Given the description of an element on the screen output the (x, y) to click on. 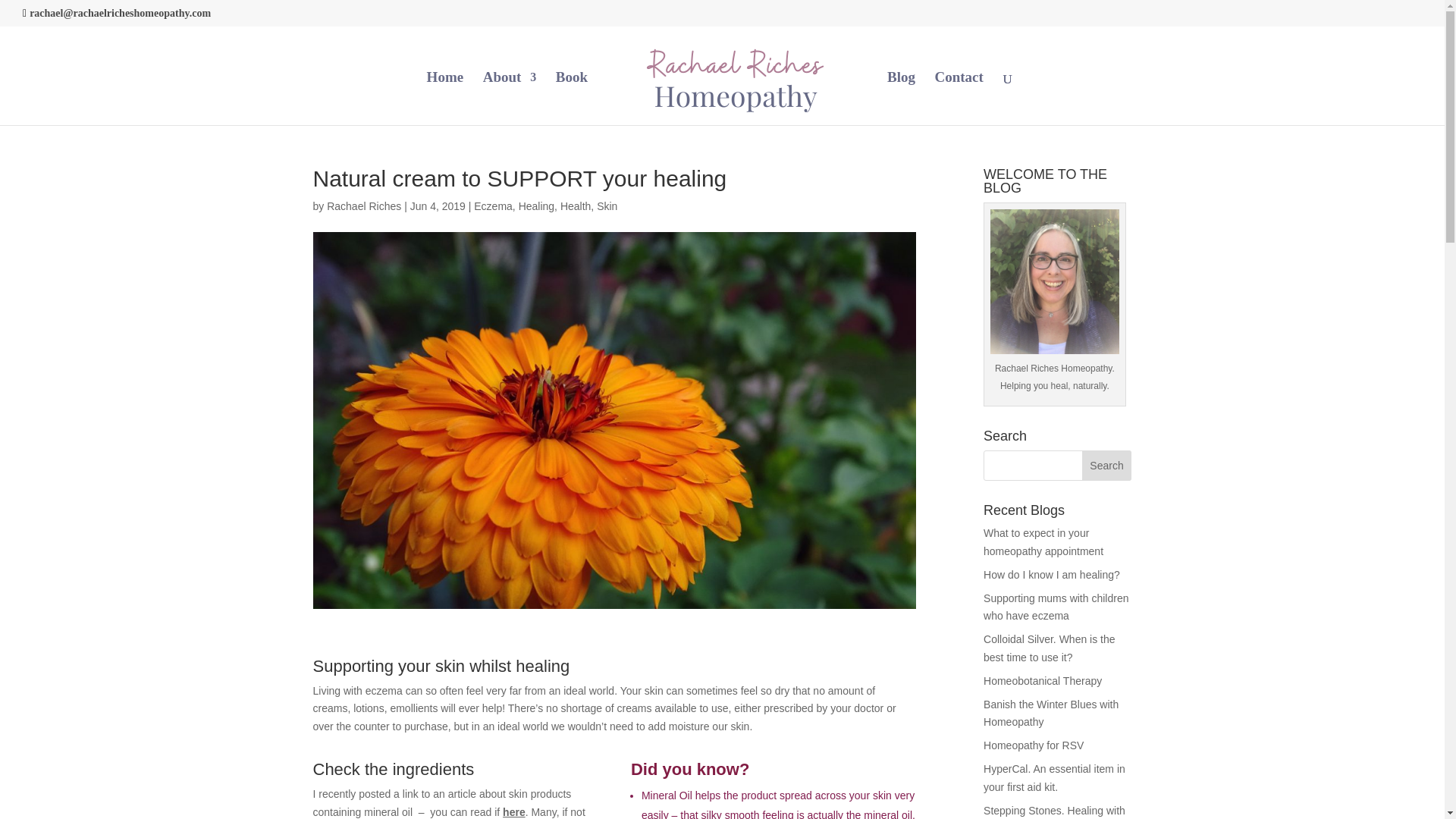
Health (575, 205)
HyperCal. An essential item in your first aid kit. (1054, 777)
Supporting mums with children who have eczema (1056, 607)
Search (1106, 465)
Skin (606, 205)
Homeopathy for RSV (1033, 745)
Contact (958, 98)
Homeobotanical Therapy (1043, 680)
WELCOME TO THE BLOG (1054, 281)
Posts by Rachael Riches (363, 205)
